Given the description of an element on the screen output the (x, y) to click on. 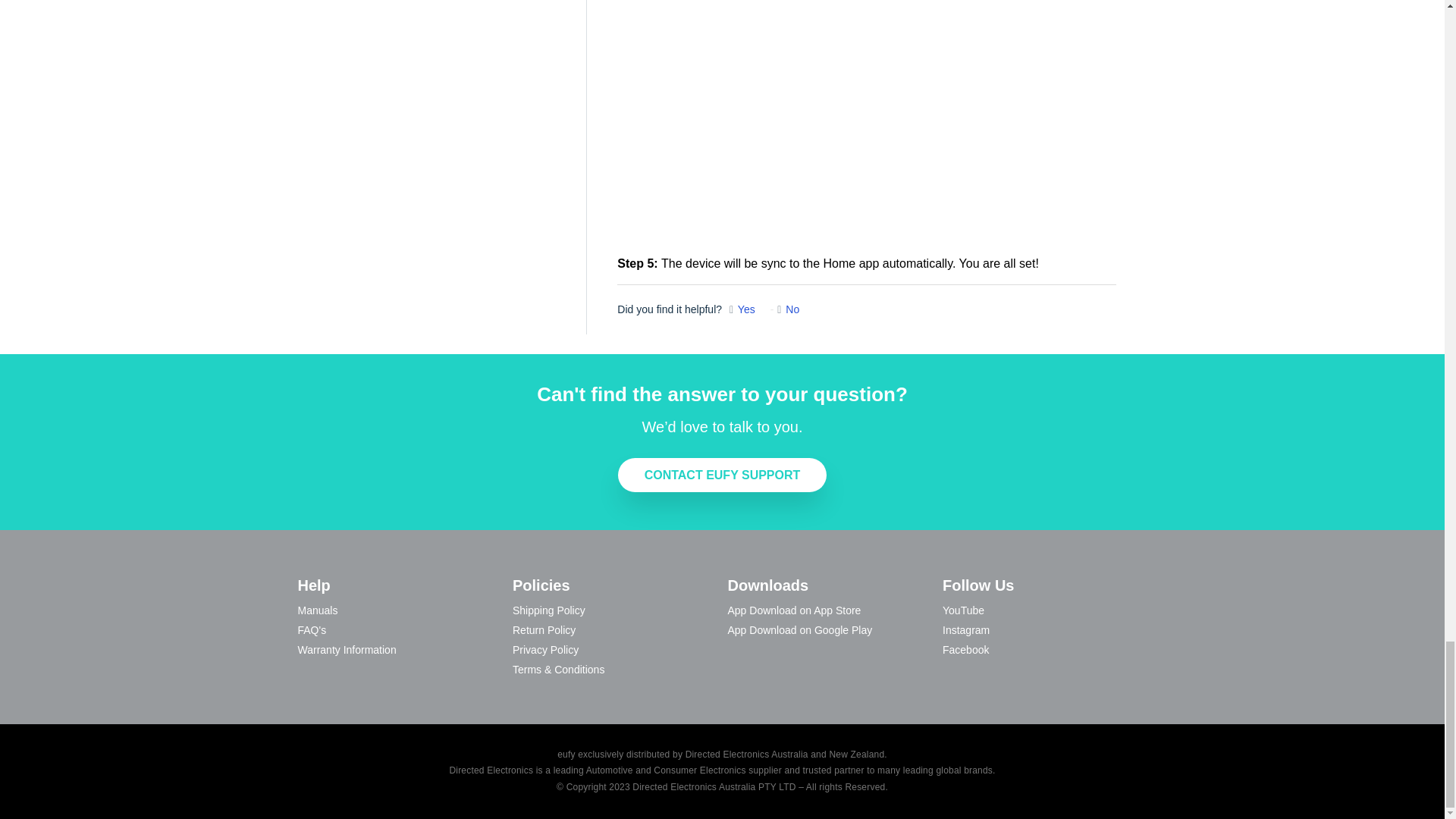
Contact Eufy support (722, 475)
